Given the description of an element on the screen output the (x, y) to click on. 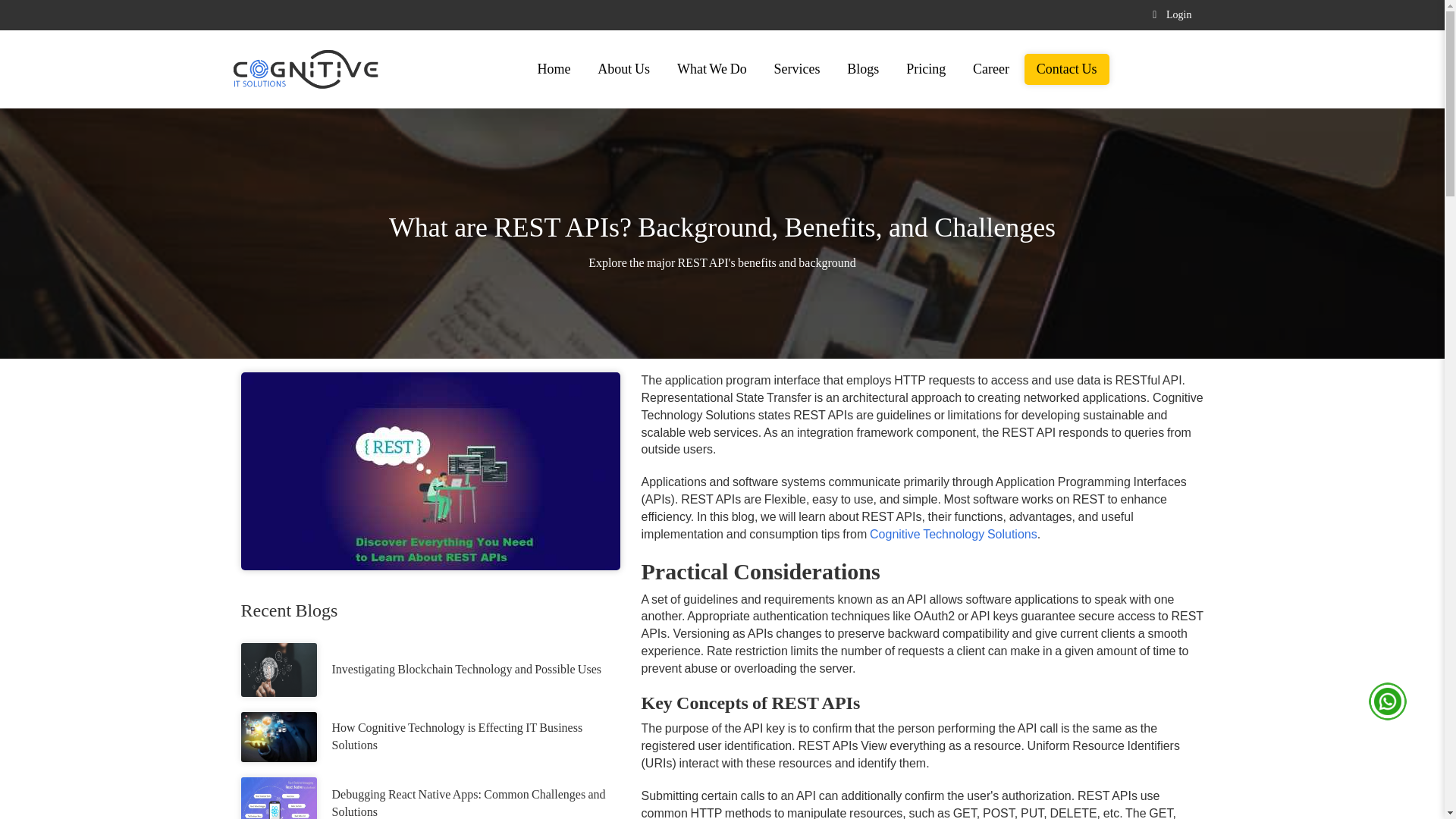
What We Do (711, 69)
Login (1167, 14)
Services (796, 69)
Home (553, 69)
About Us (623, 69)
